Given the description of an element on the screen output the (x, y) to click on. 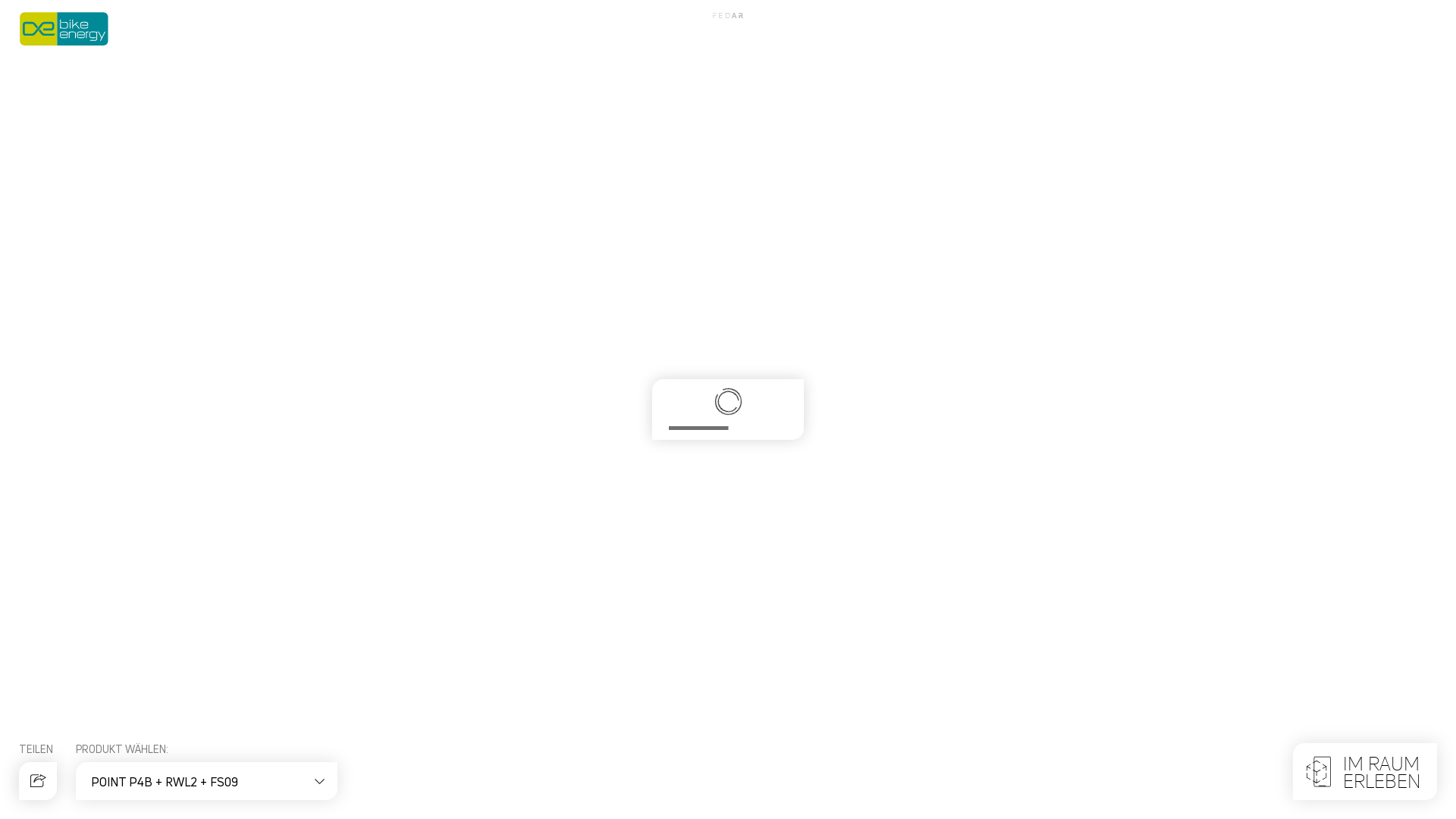
POINT P4B + RWL2 + FS09 Element type: text (202, 781)
IM RAUM ERLEBEN Element type: text (1364, 771)
